Given the description of an element on the screen output the (x, y) to click on. 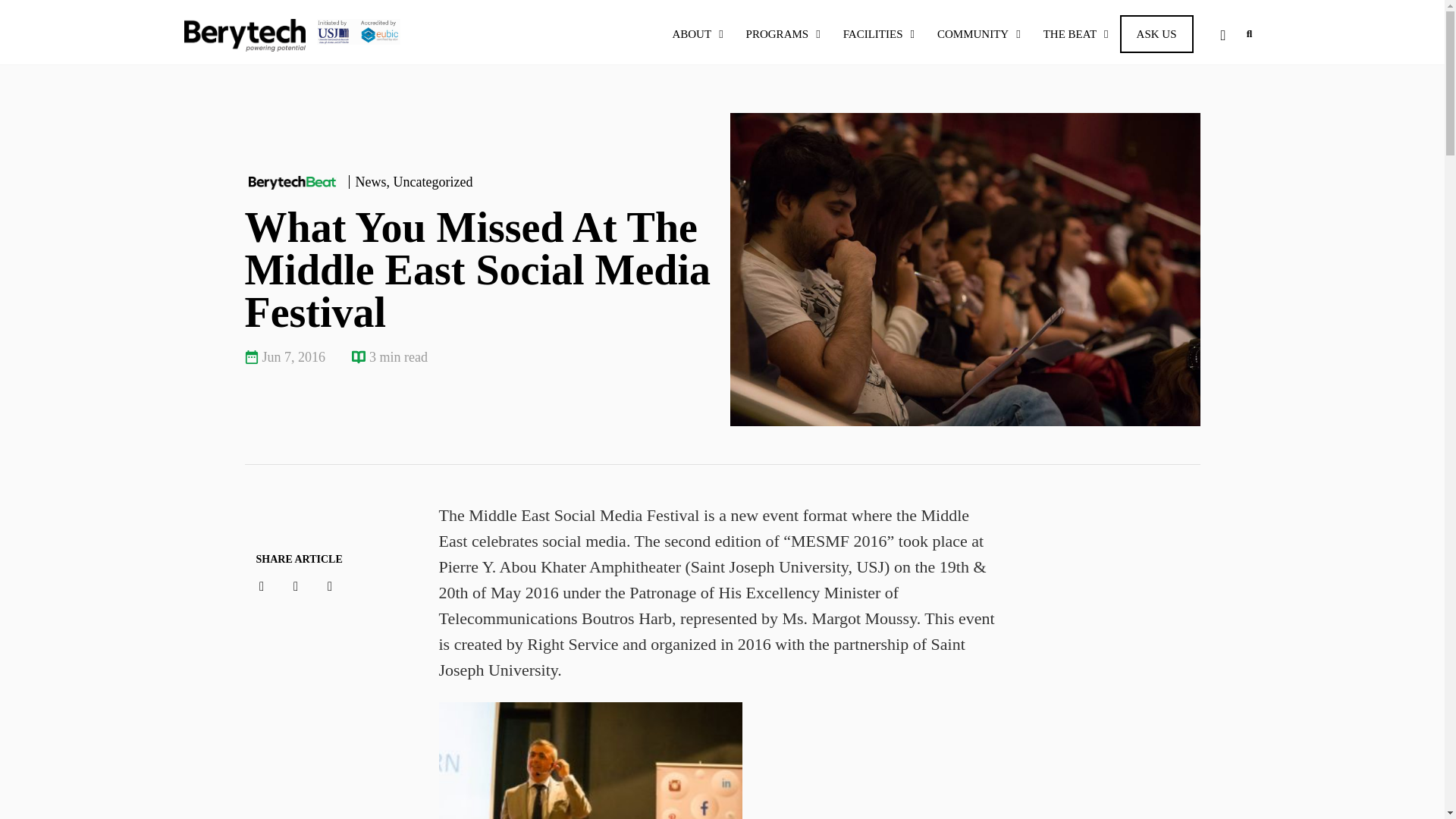
PROGRAMS (783, 34)
ASK US (1156, 34)
THE BEAT (1075, 34)
FACILITIES (878, 34)
COMMUNITY (979, 34)
ABOUT (697, 34)
